Given the description of an element on the screen output the (x, y) to click on. 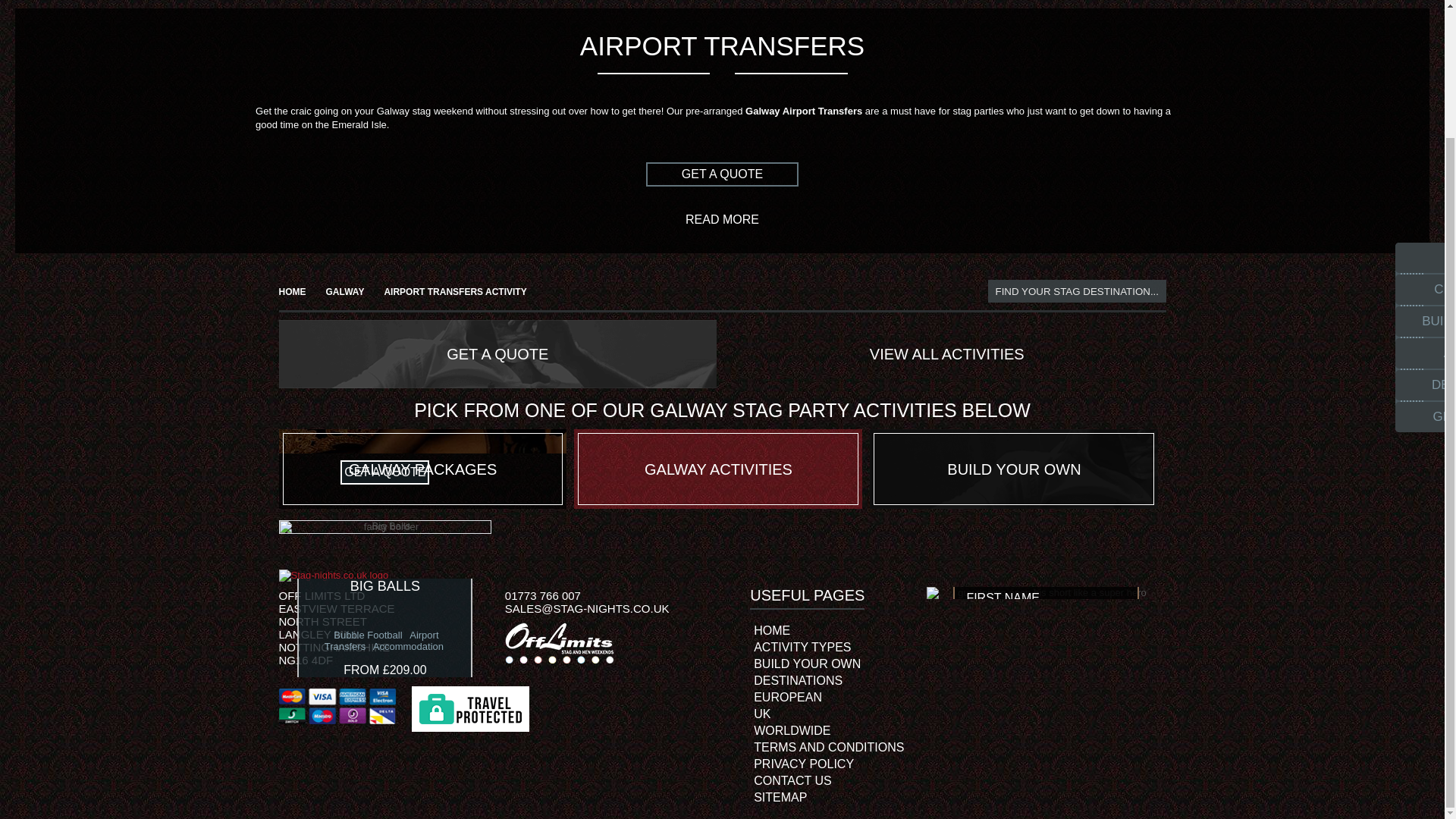
Galway Activities (717, 468)
Galway Packages (423, 468)
